Given the description of an element on the screen output the (x, y) to click on. 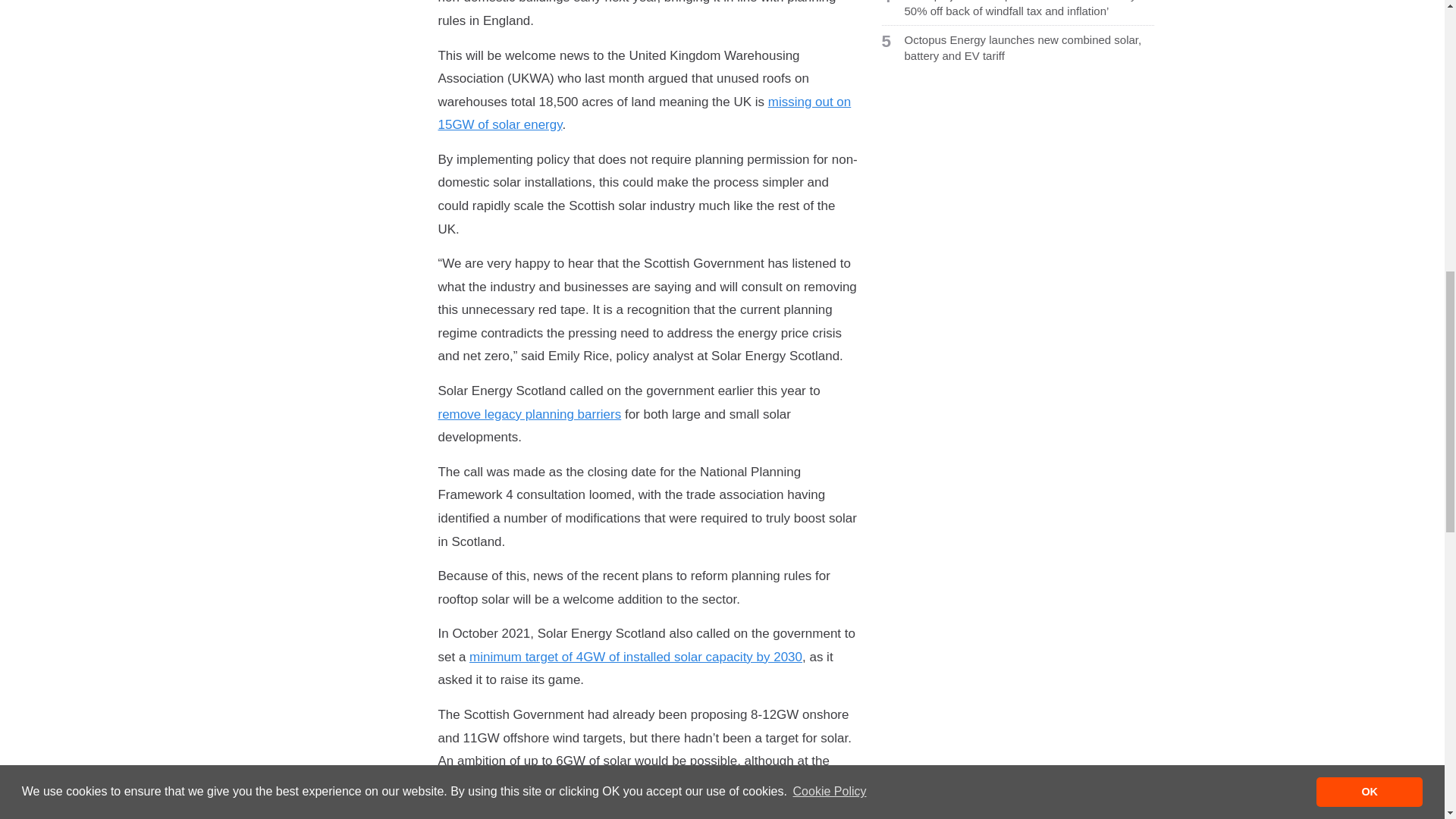
missing out on 15GW of solar energy (644, 113)
Read more this story in full (1029, 47)
remove legacy planning barriers (529, 414)
3rd party ad content (1017, 176)
Read more this story in full (1029, 9)
minimum target of 4GW of installed solar capacity by 2030 (635, 657)
